Given the description of an element on the screen output the (x, y) to click on. 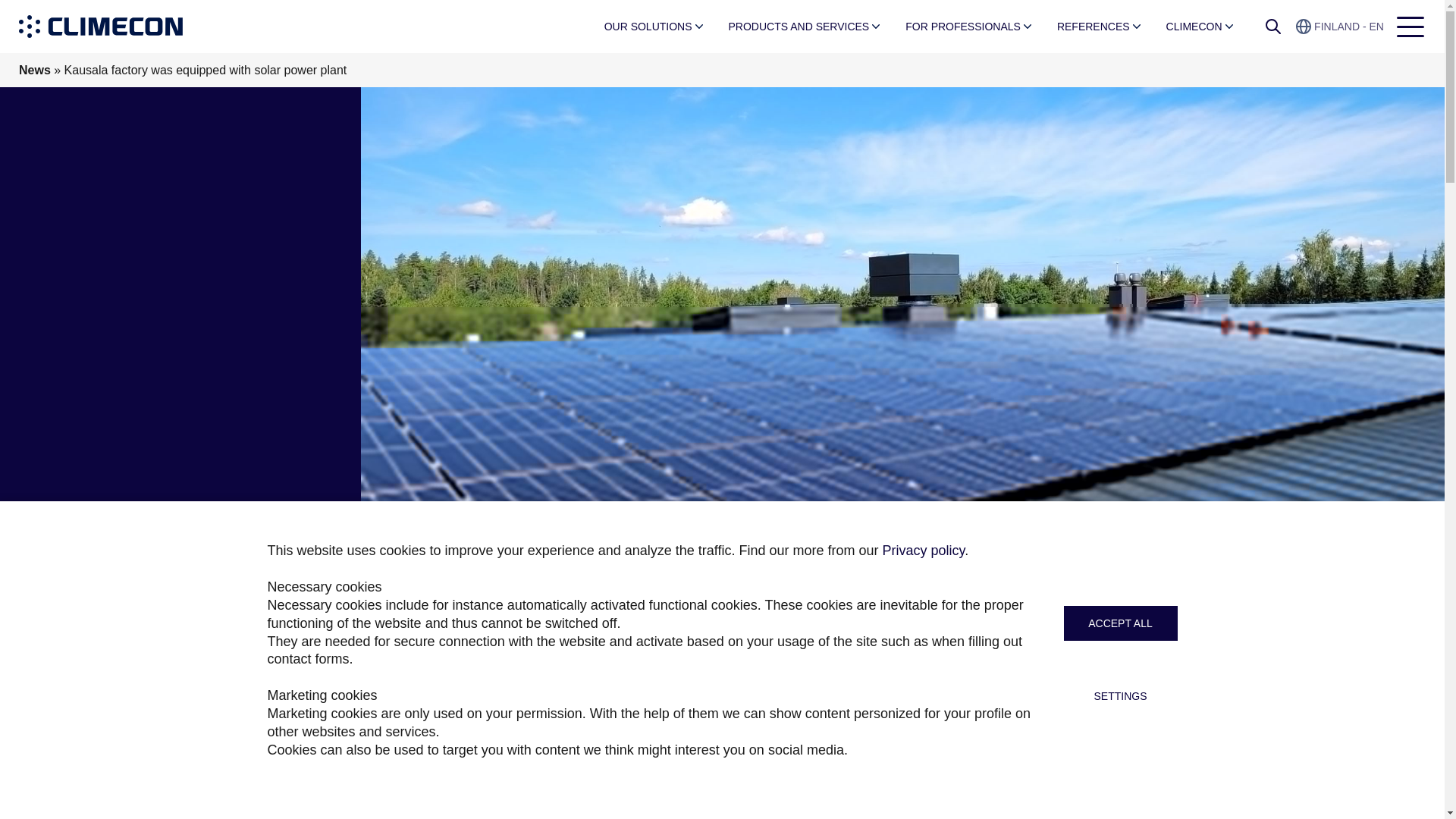
CLIMECON (1194, 26)
REFERENCES (1093, 26)
Haku (1272, 26)
PRODUCTS AND SERVICES (799, 26)
FOR PROFESSIONALS (962, 26)
OUR SOLUTIONS (648, 26)
